Given the description of an element on the screen output the (x, y) to click on. 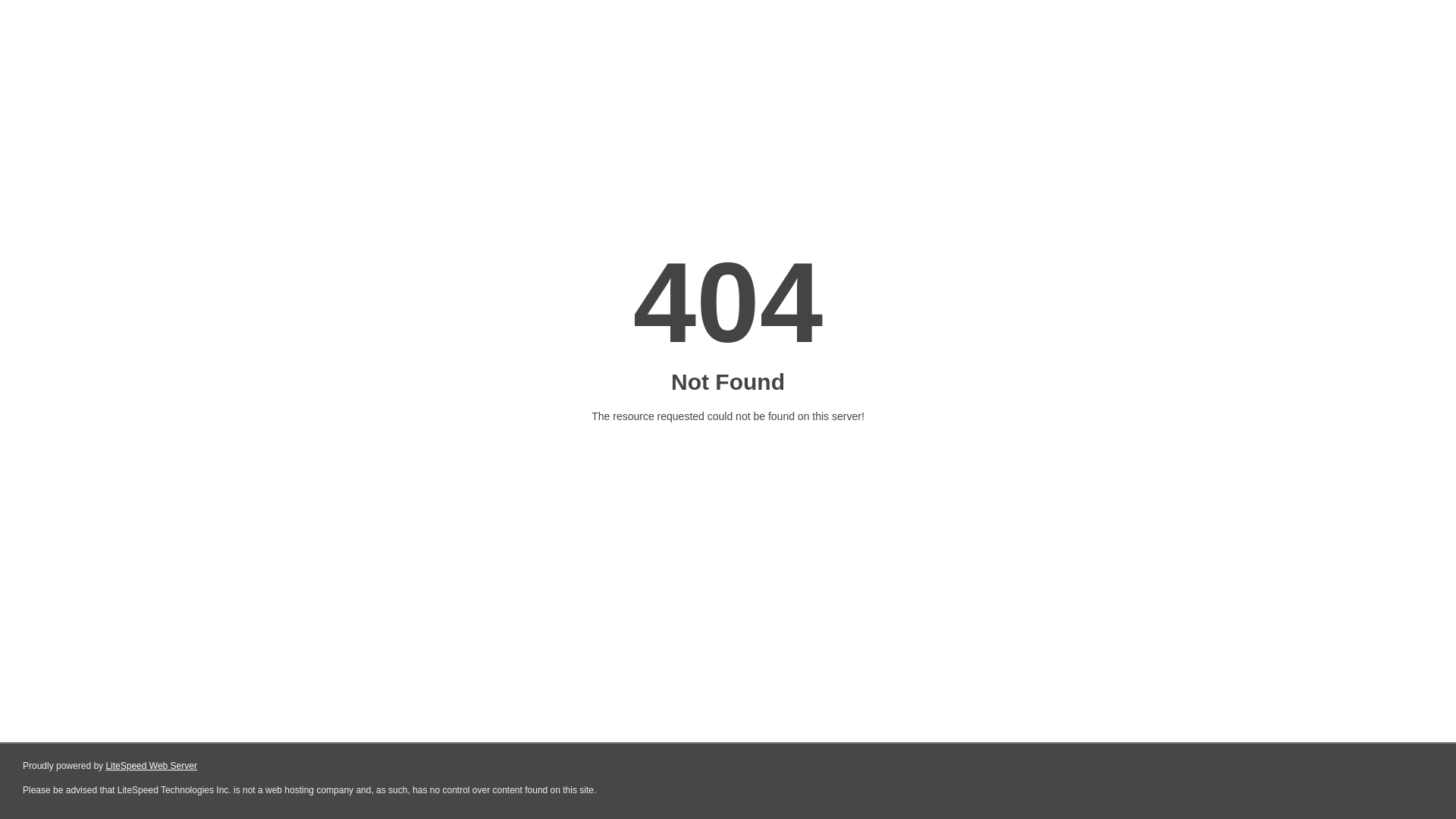
LiteSpeed Web Server Element type: text (151, 765)
